Given the description of an element on the screen output the (x, y) to click on. 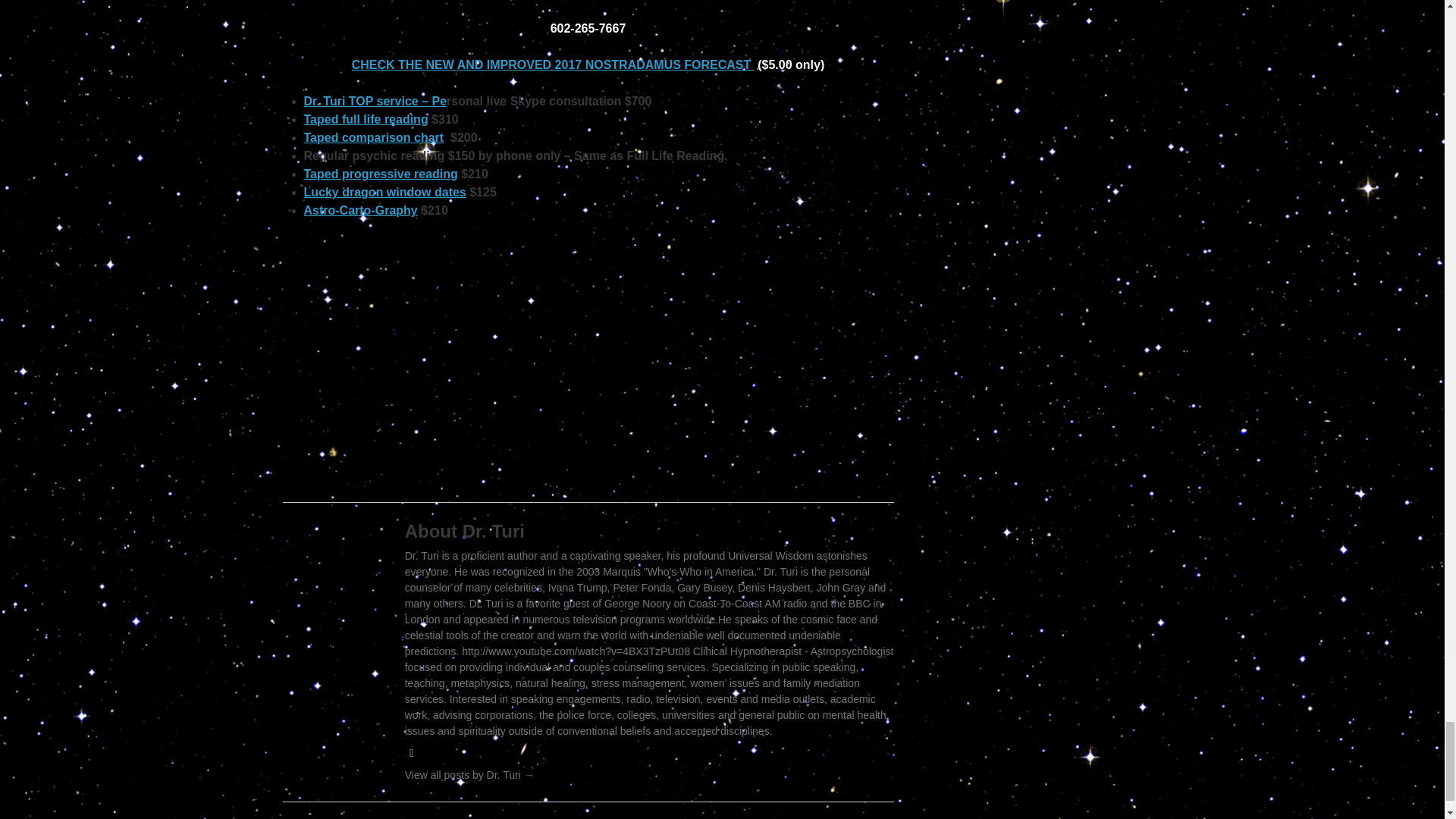
Website (411, 752)
